Given the description of an element on the screen output the (x, y) to click on. 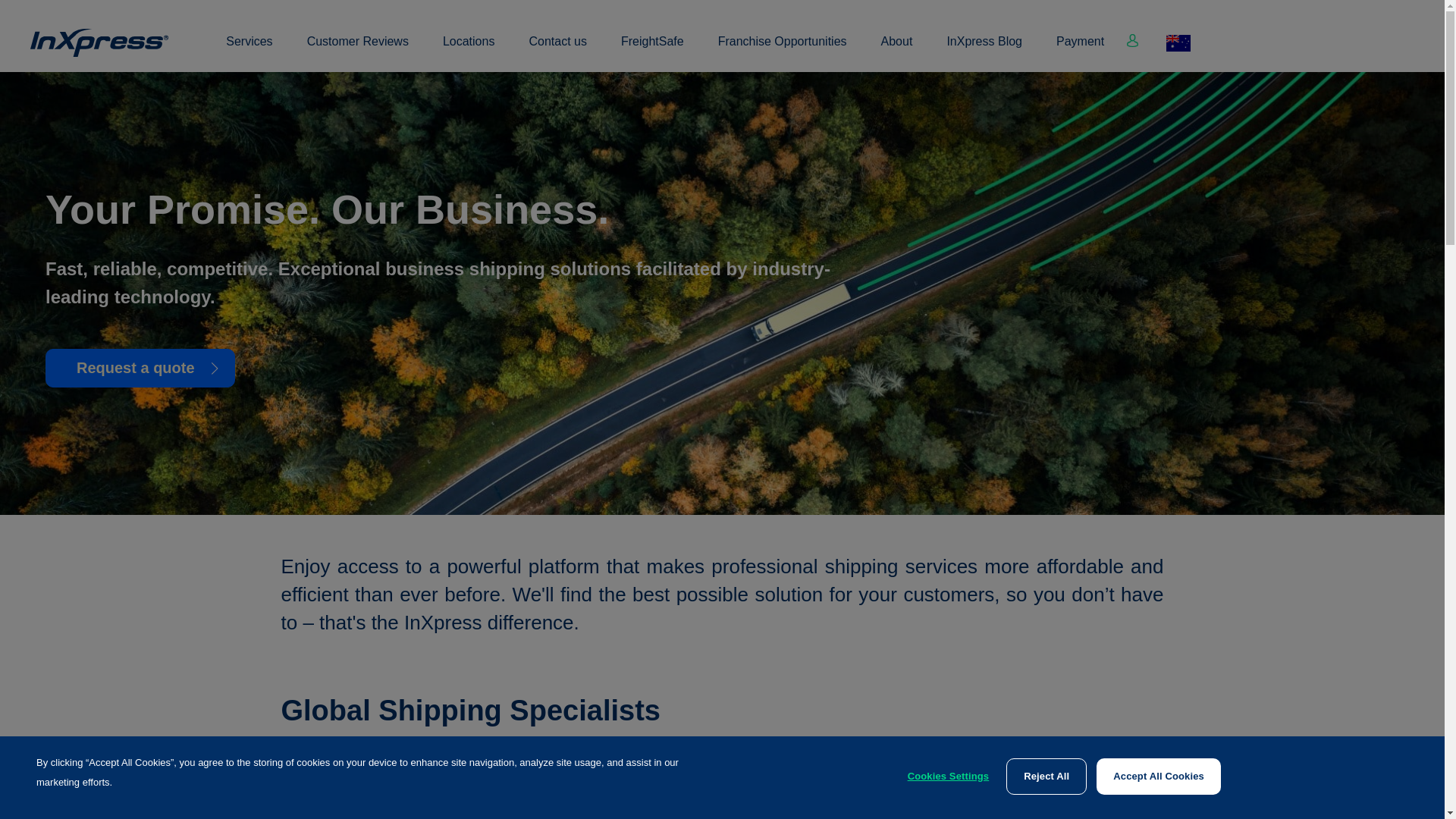
Franchise Opportunities Element type: text (782, 49)
Locations Element type: text (468, 49)
Payment Element type: text (1080, 49)
Contact us Element type: text (557, 49)
Cookies Settings Element type: text (948, 776)
FreightSafe Element type: text (652, 49)
Customer Reviews Element type: text (357, 49)
About Element type: text (897, 49)
Accept All Cookies Element type: text (1158, 776)
Request a quote Element type: text (140, 367)
InXpress Blog Element type: text (984, 49)
Services Element type: text (248, 49)
Reject All Element type: text (1046, 776)
